Given the description of an element on the screen output the (x, y) to click on. 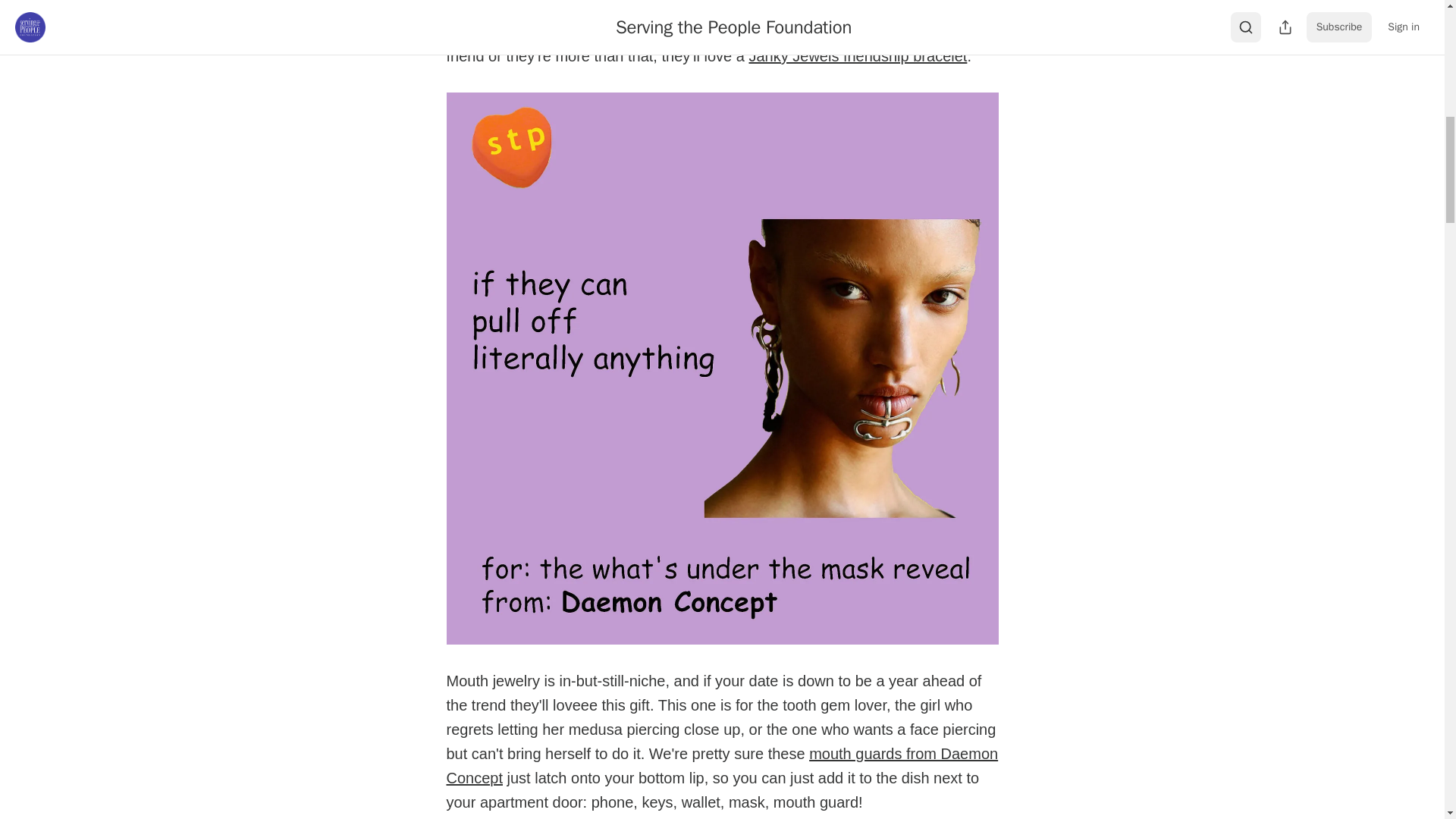
Janky Jewels friendship bracelet (857, 55)
Carol Li (531, 31)
mouth guards from Daemon Concept (721, 765)
